Given the description of an element on the screen output the (x, y) to click on. 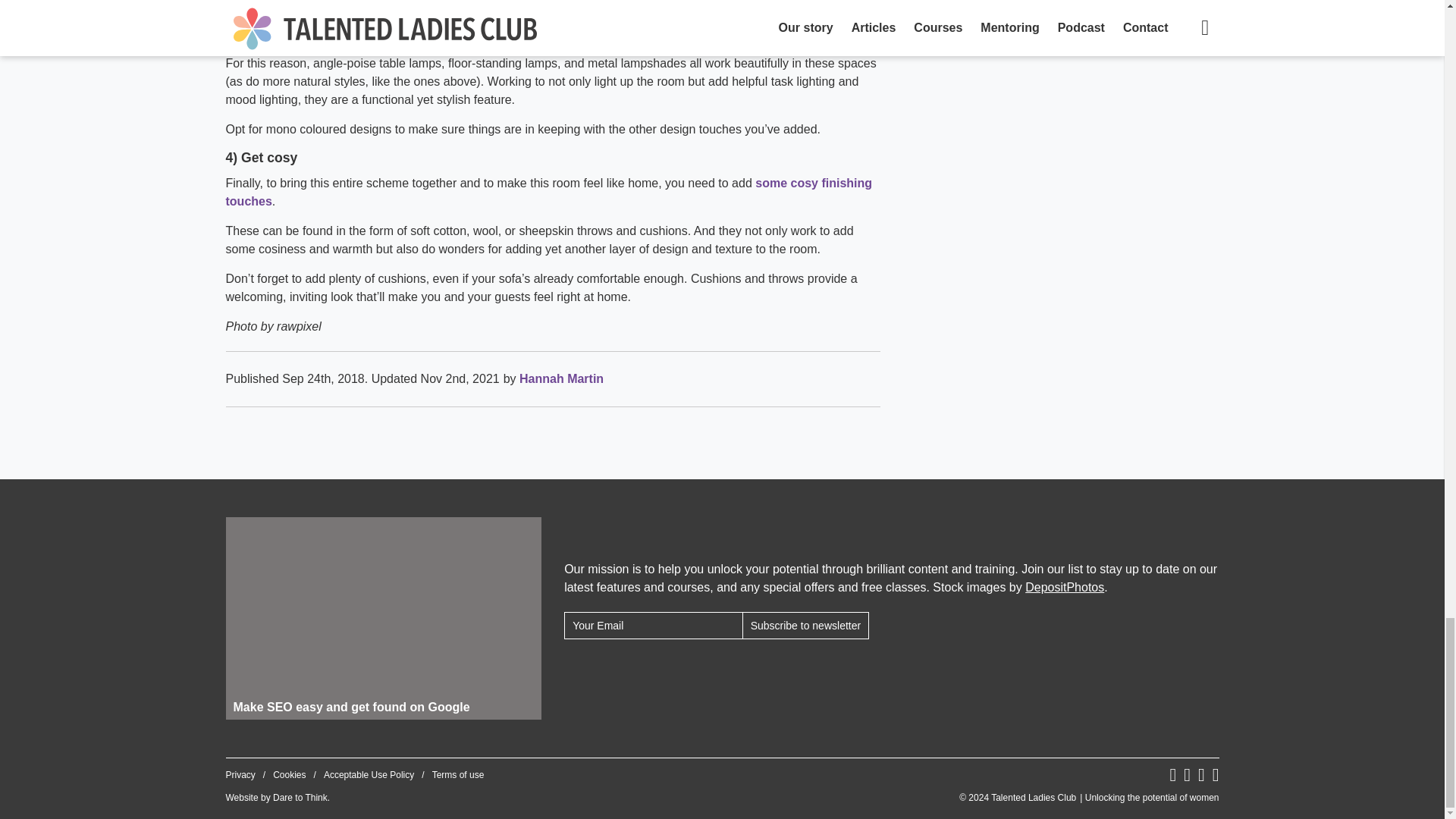
Talented Ladies Club (1088, 797)
Subscribe to newsletter (805, 625)
Website design and development services from Dare to Think (300, 797)
